Given the description of an element on the screen output the (x, y) to click on. 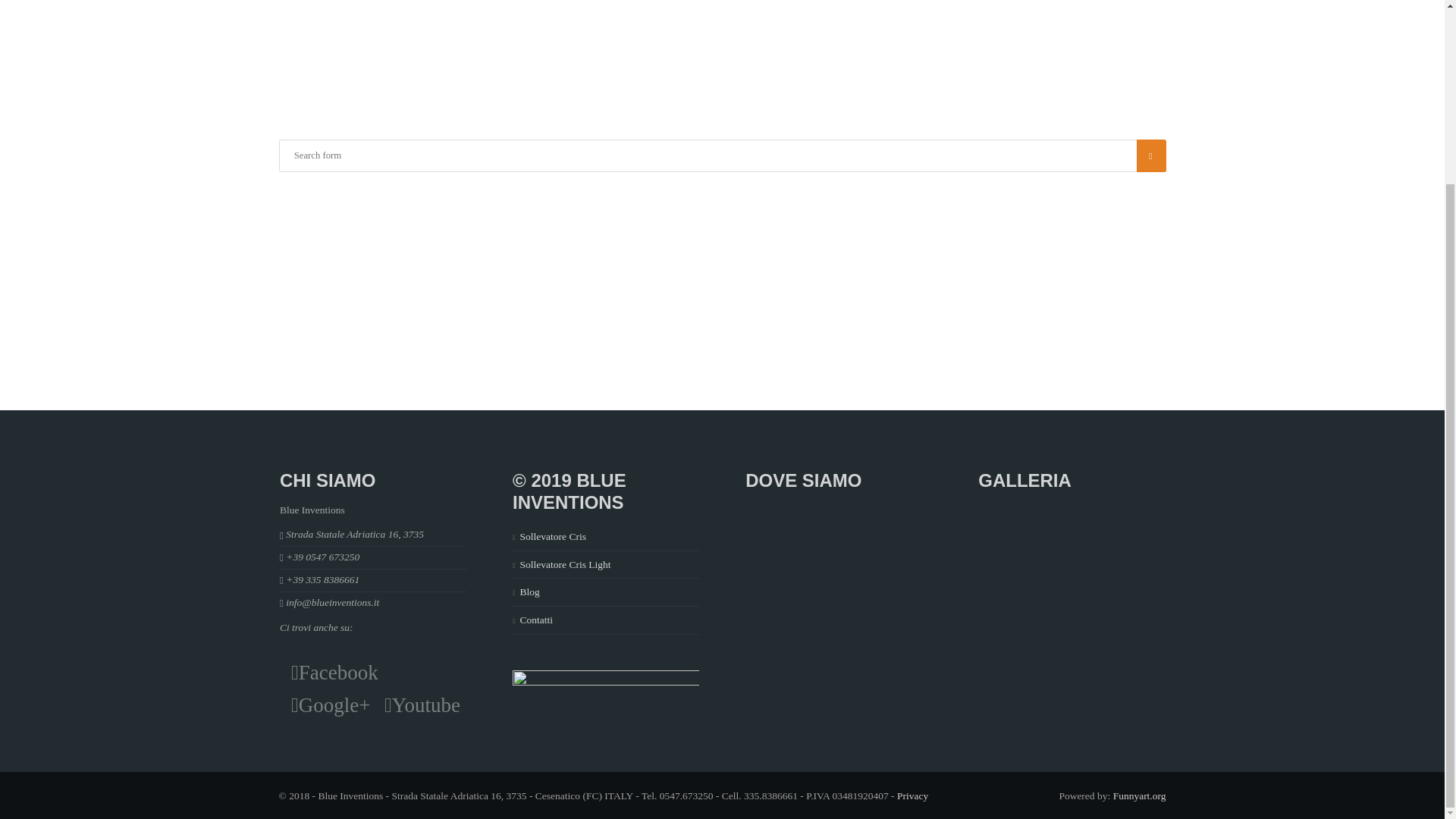
Contatti (536, 619)
Funnyart.org (1139, 795)
Blog (529, 591)
Privacy (912, 795)
Sollevatore Cris Light (565, 564)
Sollevatore Cris (552, 536)
Facebook (334, 671)
SEARCH (1151, 155)
Youtube (422, 704)
